Given the description of an element on the screen output the (x, y) to click on. 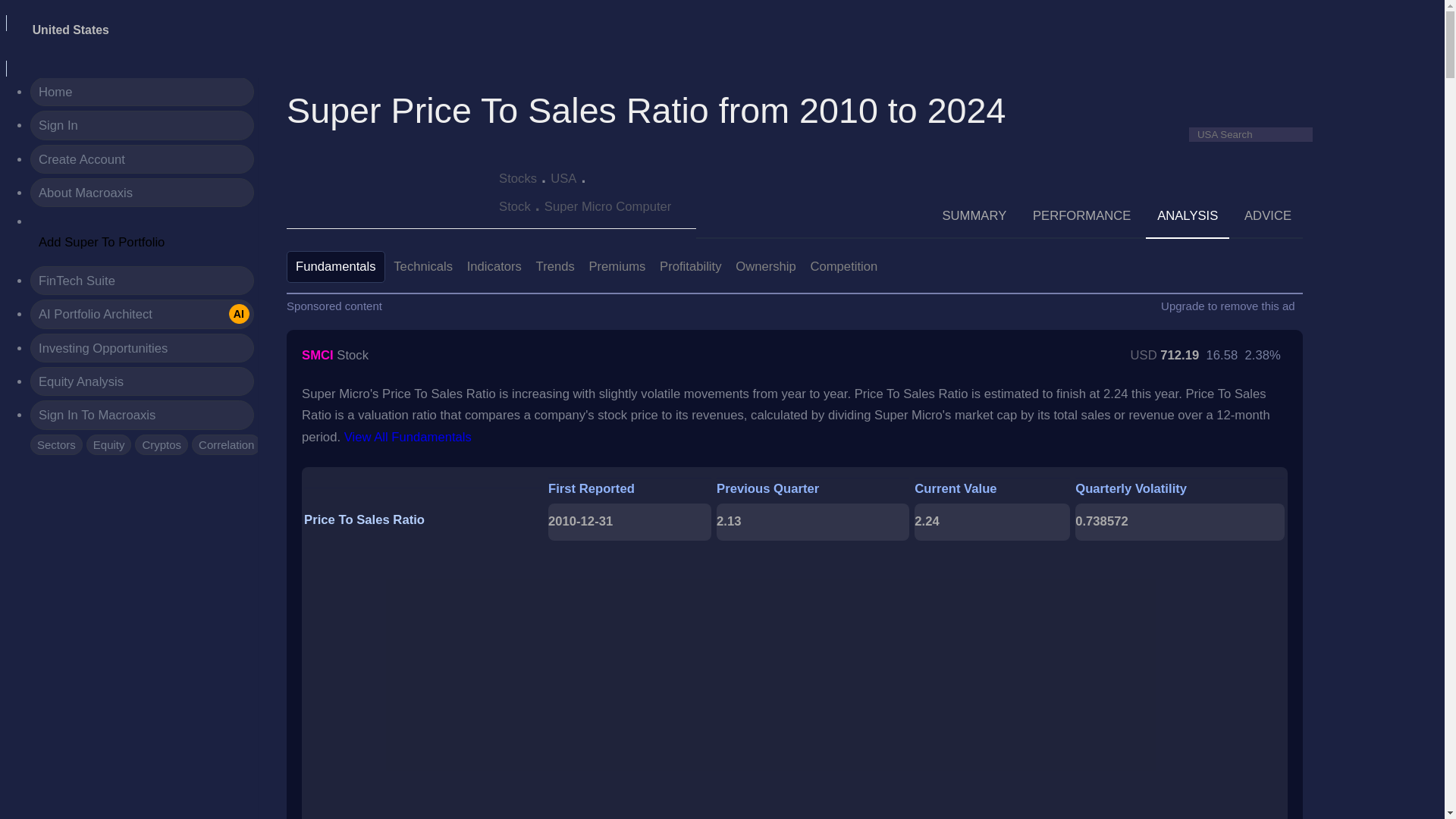
About Macroaxis (141, 192)
Sign In (141, 313)
Cryptos (141, 124)
Investing Opportunities (161, 444)
Sign In To Macroaxis (141, 347)
Add Super To Portfolio (141, 414)
Create Account (101, 241)
FinTech Suite (141, 158)
Equity (141, 280)
Equity Analysis (108, 444)
Correlation (141, 380)
United States (226, 444)
Select Your Market (70, 29)
United States (70, 29)
